Given the description of an element on the screen output the (x, y) to click on. 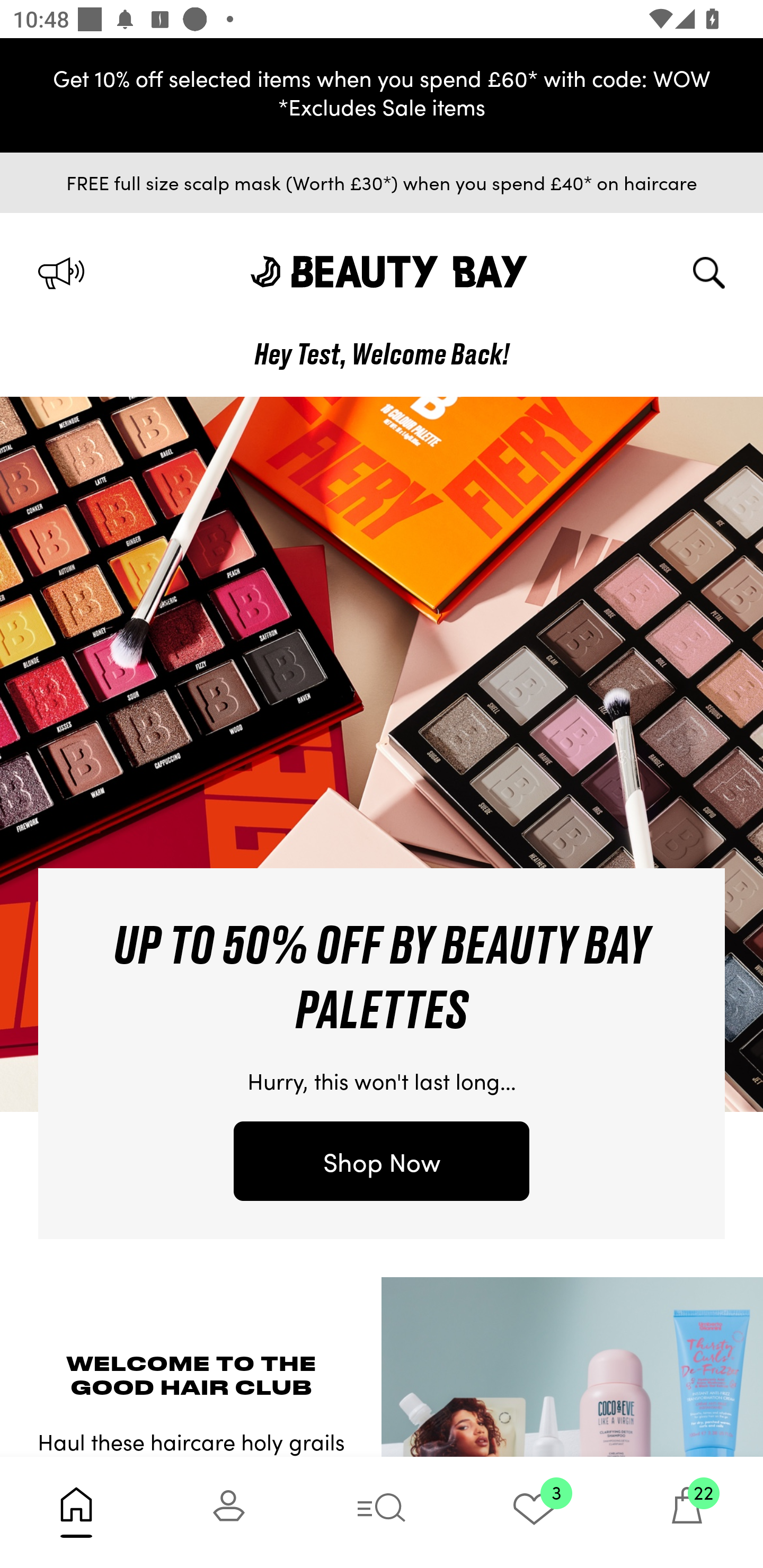
3 (533, 1512)
22 (686, 1512)
